Given the description of an element on the screen output the (x, y) to click on. 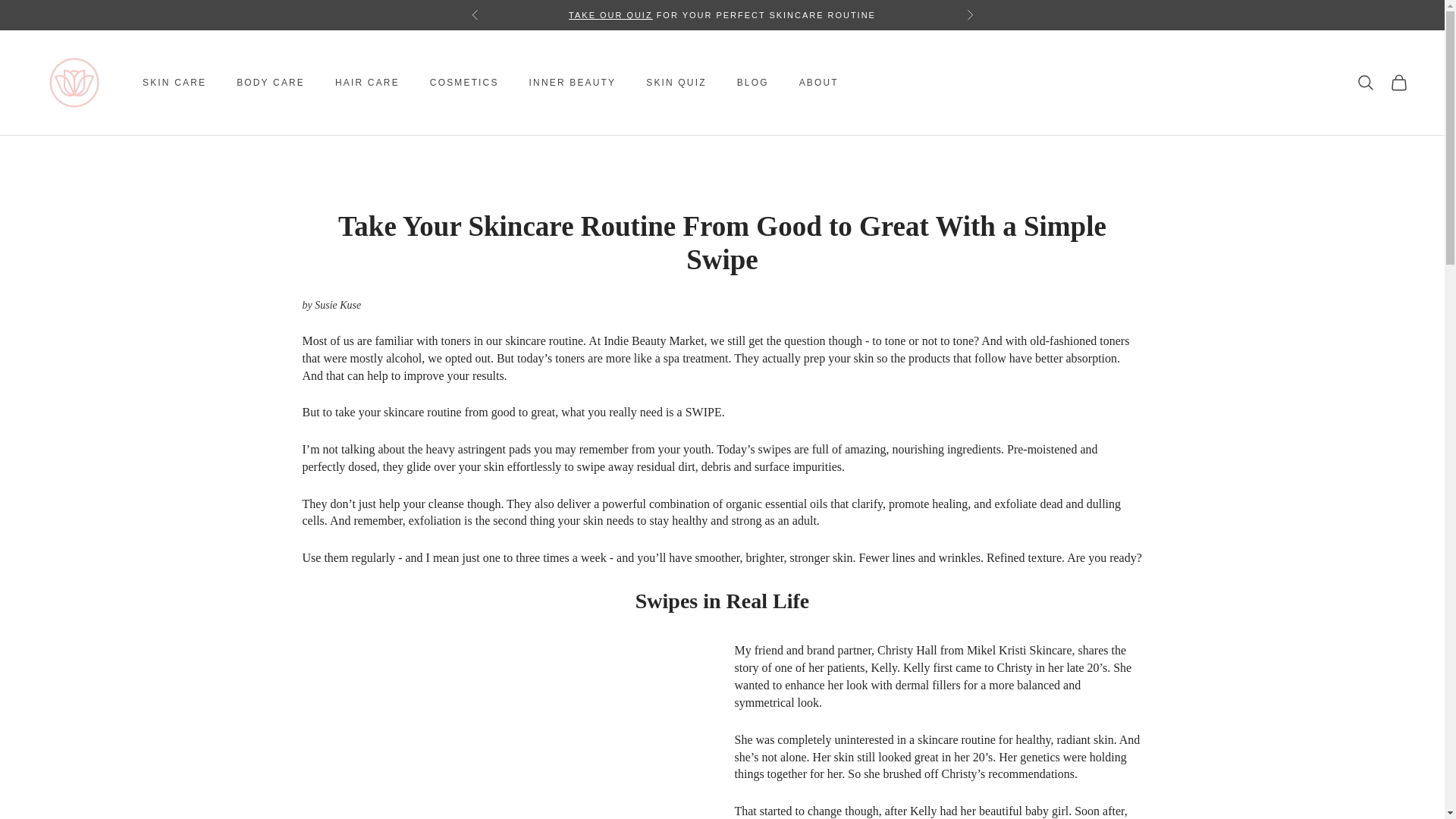
The Skin Quiz (610, 14)
Indie Beauty Market (74, 82)
TAKE OUR QUIZ (610, 14)
